Given the description of an element on the screen output the (x, y) to click on. 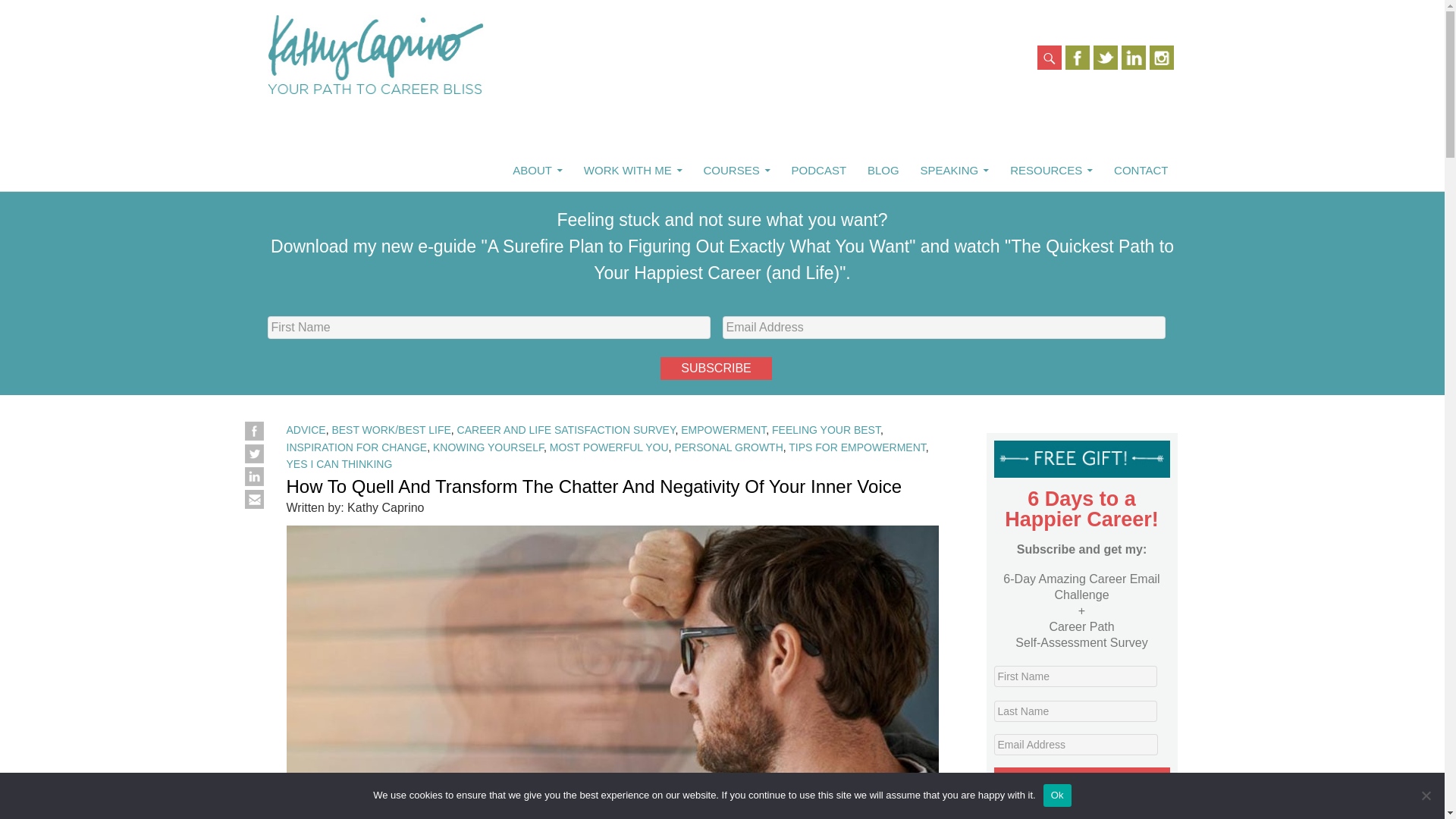
Subscribe (716, 368)
Yes! Give Me This Valuable Gift (253, 500)
SEARCH (1082, 783)
